Given the description of an element on the screen output the (x, y) to click on. 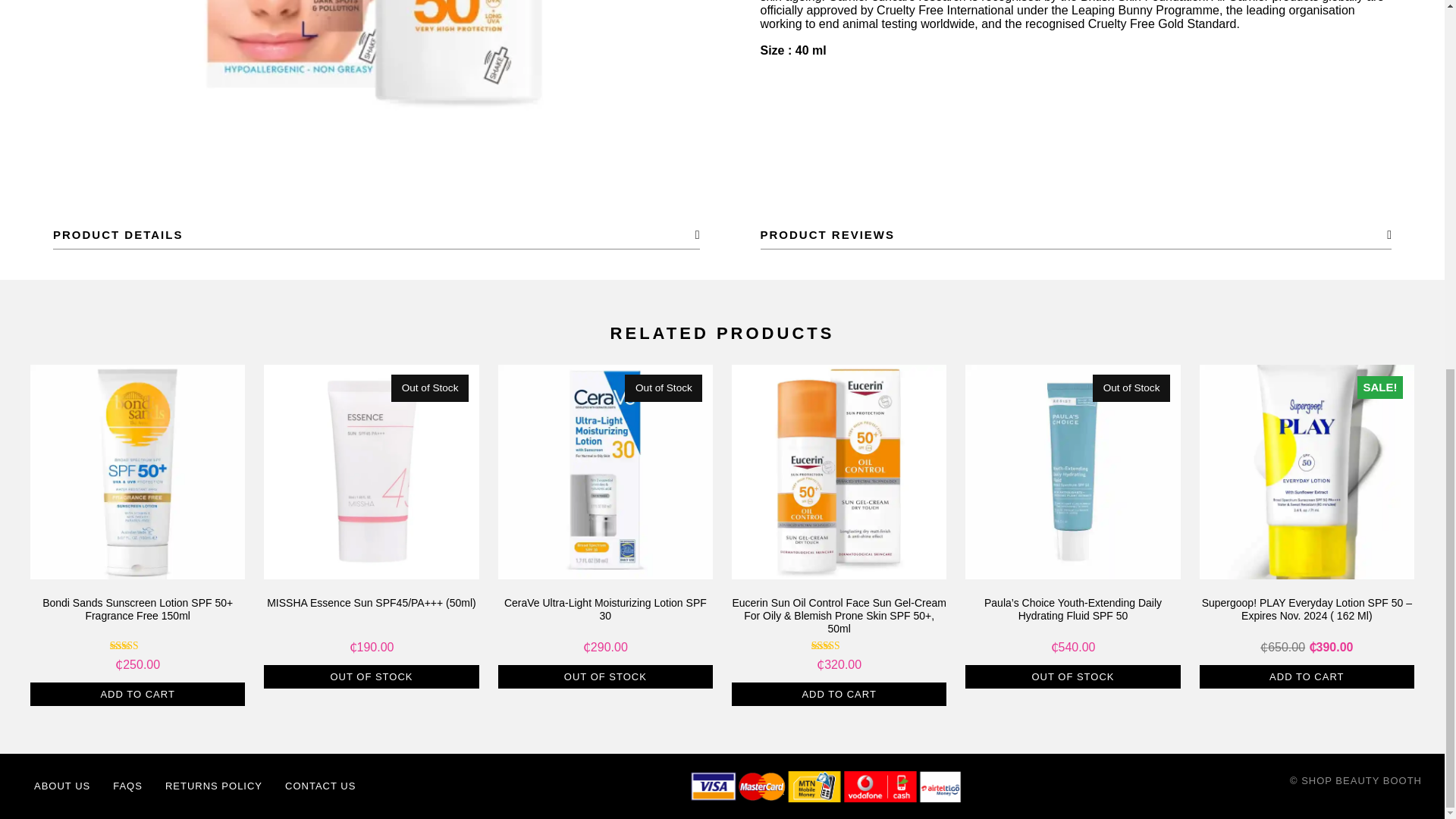
Minimum qty is 1 (839, 694)
Minimum qty is 1 (1072, 677)
Minimum qty is 1 (371, 677)
Minimum qty is 1 (1306, 677)
Minimum qty is 1 (605, 677)
